Given the description of an element on the screen output the (x, y) to click on. 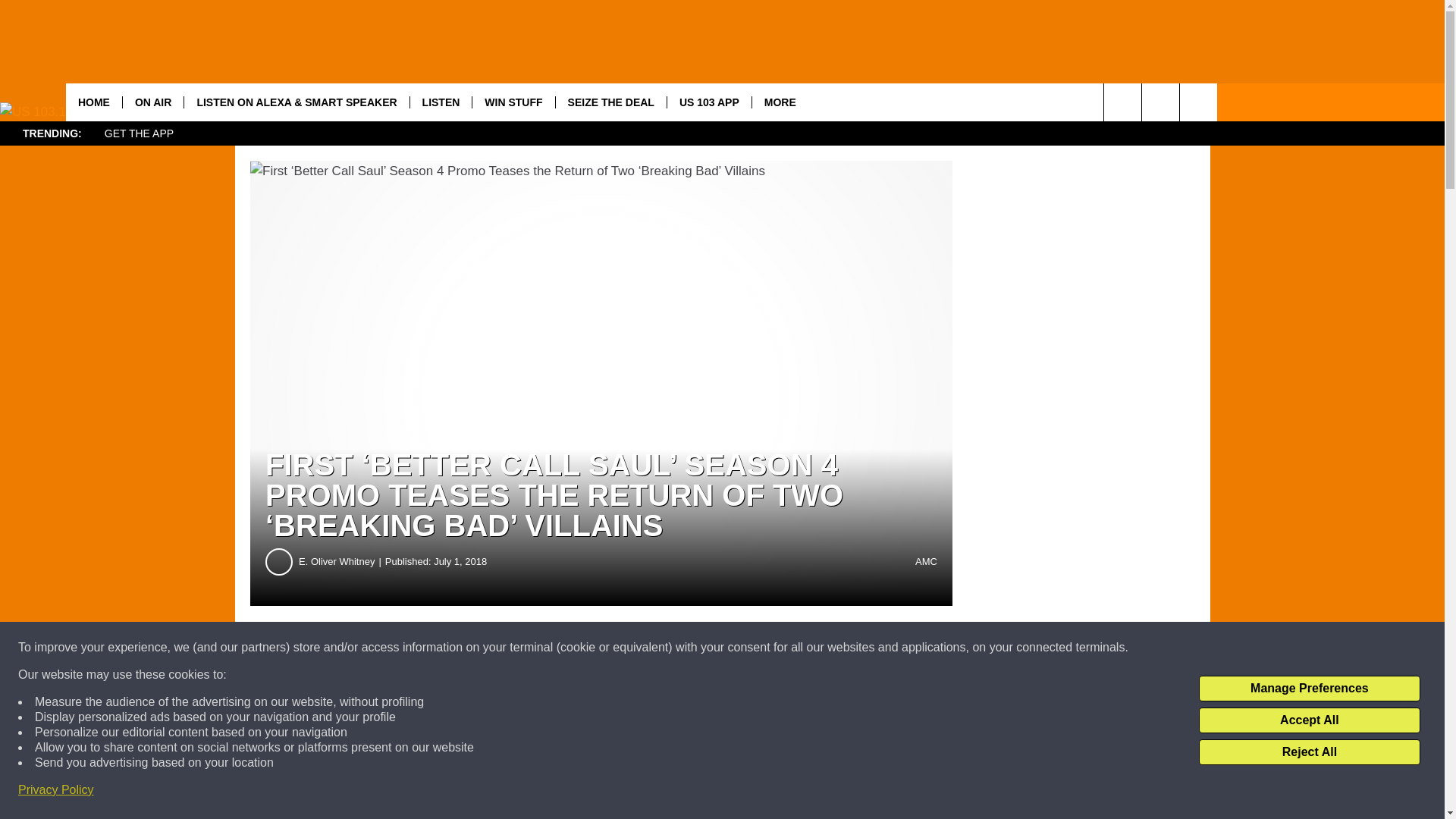
ON AIR (152, 102)
TRENDING: (52, 133)
Share on Facebook (460, 647)
Manage Preferences (1309, 688)
HOME (93, 102)
Accept All (1309, 720)
Privacy Policy (55, 789)
GET THE APP (138, 133)
MORE (779, 102)
US 103 APP (708, 102)
SEIZE THE DEAL (610, 102)
Share on Twitter (741, 647)
WIN STUFF (512, 102)
LISTEN (440, 102)
Reject All (1309, 751)
